Given the description of an element on the screen output the (x, y) to click on. 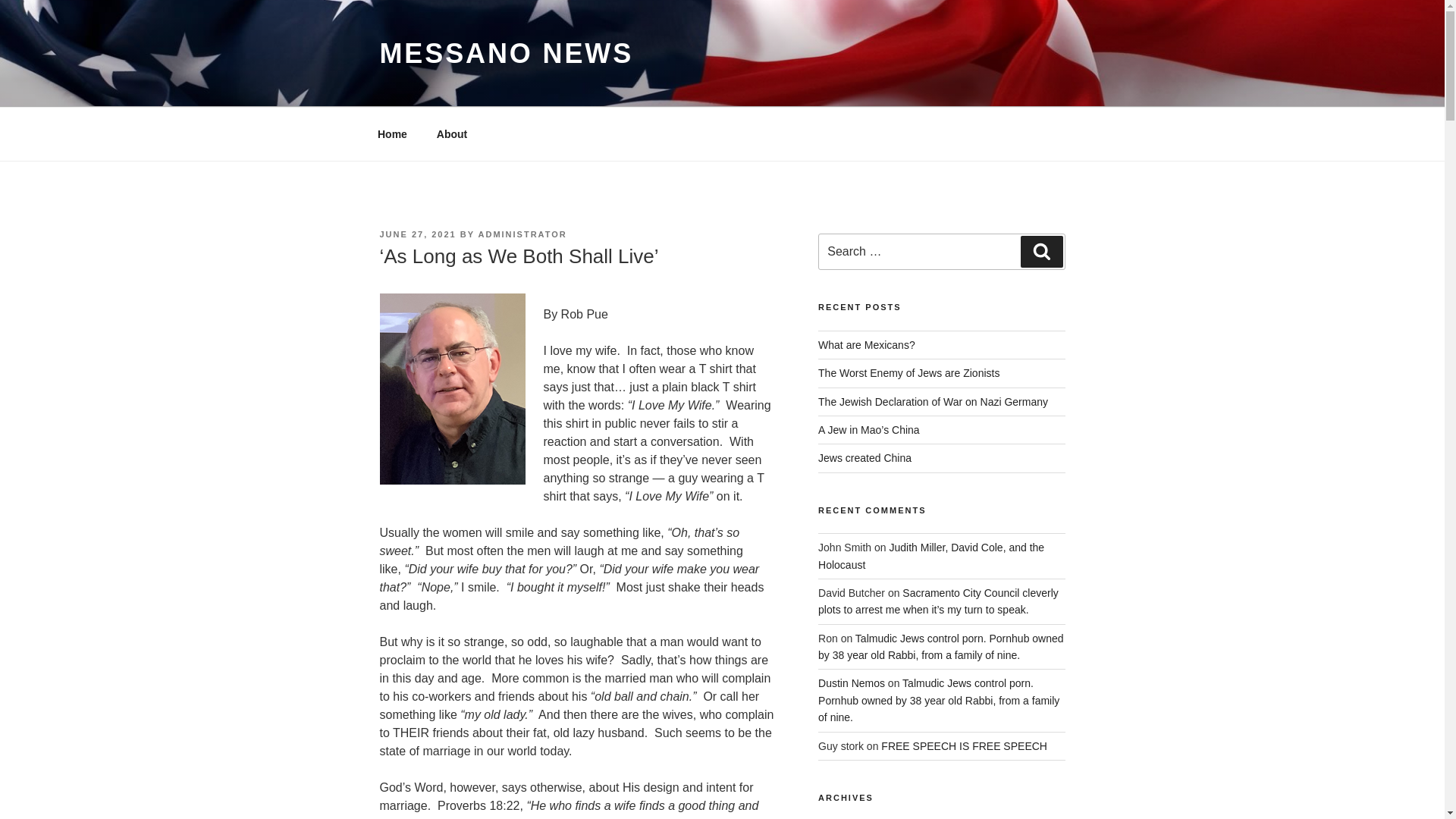
About (451, 133)
What are Mexicans? (866, 345)
Judith Miller, David Cole, and the Holocaust  (930, 555)
JUNE 27, 2021 (416, 234)
FREE SPEECH IS FREE SPEECH (963, 746)
Search (1041, 251)
The Worst Enemy of Jews are Zionists (908, 372)
ADMINISTRATOR (523, 234)
MESSANO NEWS (505, 52)
Home (392, 133)
The Jewish Declaration of War on Nazi Germany (933, 401)
Jews created China (864, 458)
Dustin Nemos (851, 683)
